Given the description of an element on the screen output the (x, y) to click on. 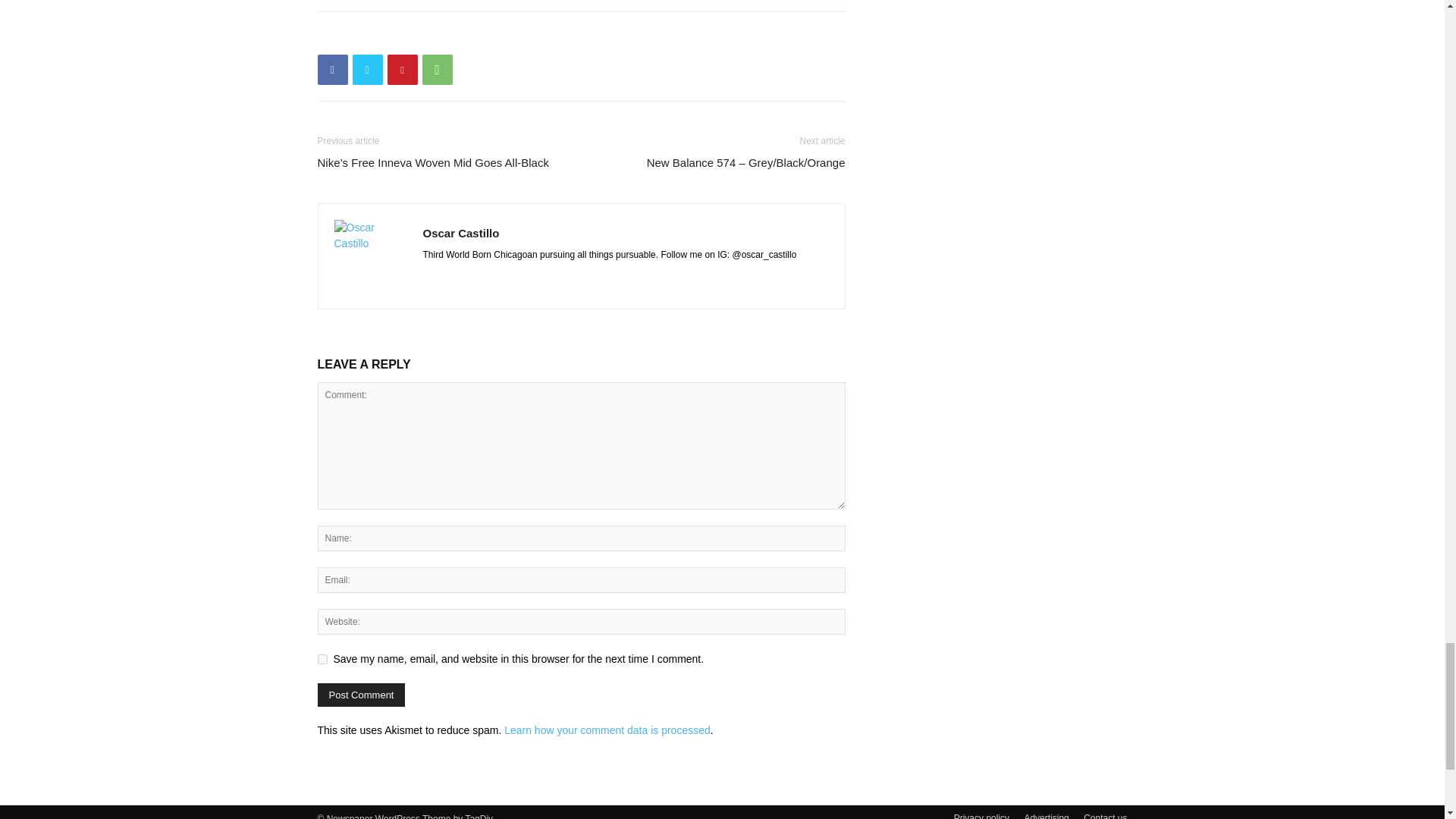
yes (321, 659)
Pinterest (401, 69)
Post Comment (360, 694)
WhatsApp (436, 69)
Twitter (366, 69)
Facebook (332, 69)
bottomFacebookLike (430, 35)
